Given the description of an element on the screen output the (x, y) to click on. 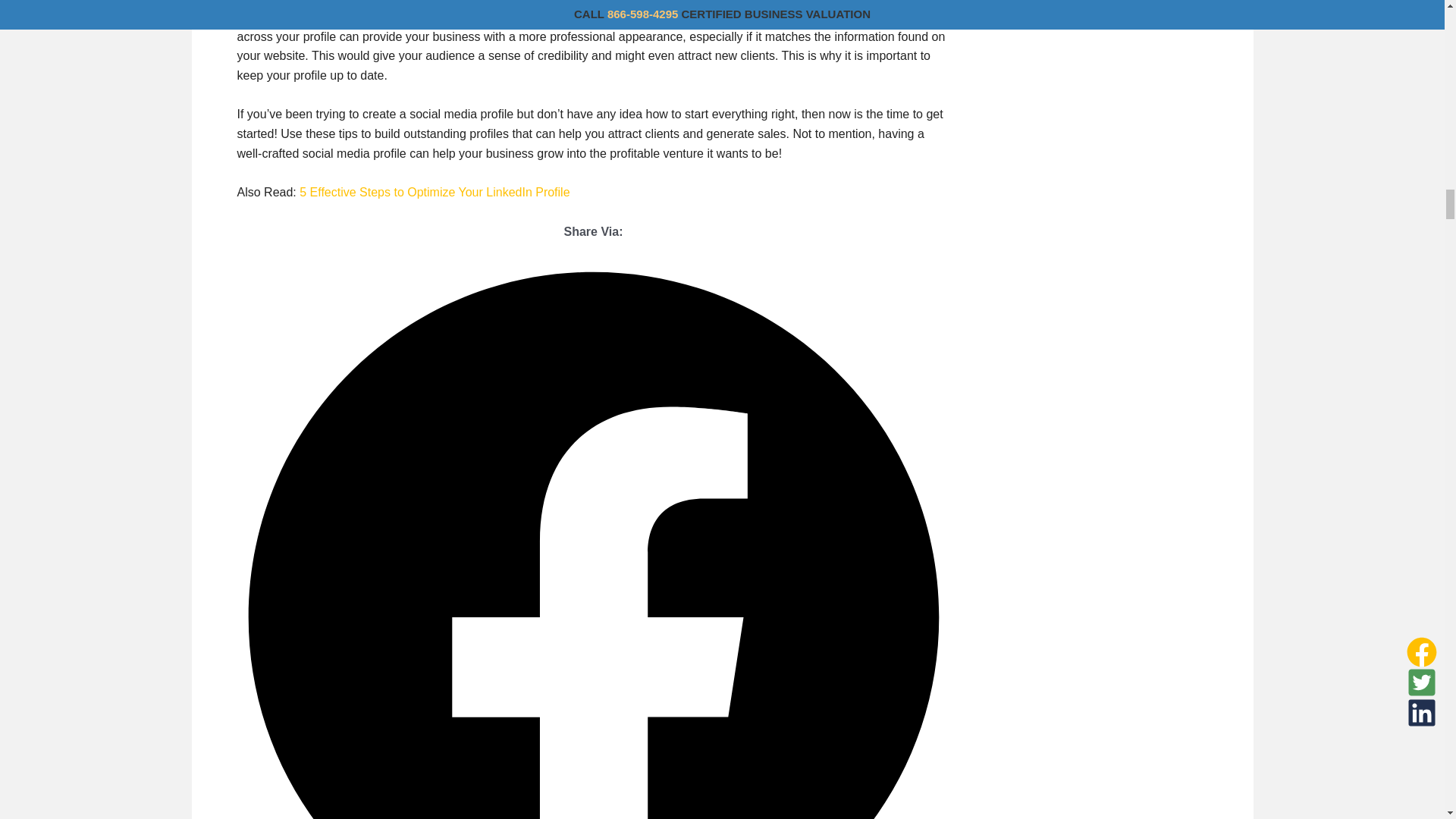
5 Effective Steps to Optimize Your LinkedIn Profile (434, 192)
